Given the description of an element on the screen output the (x, y) to click on. 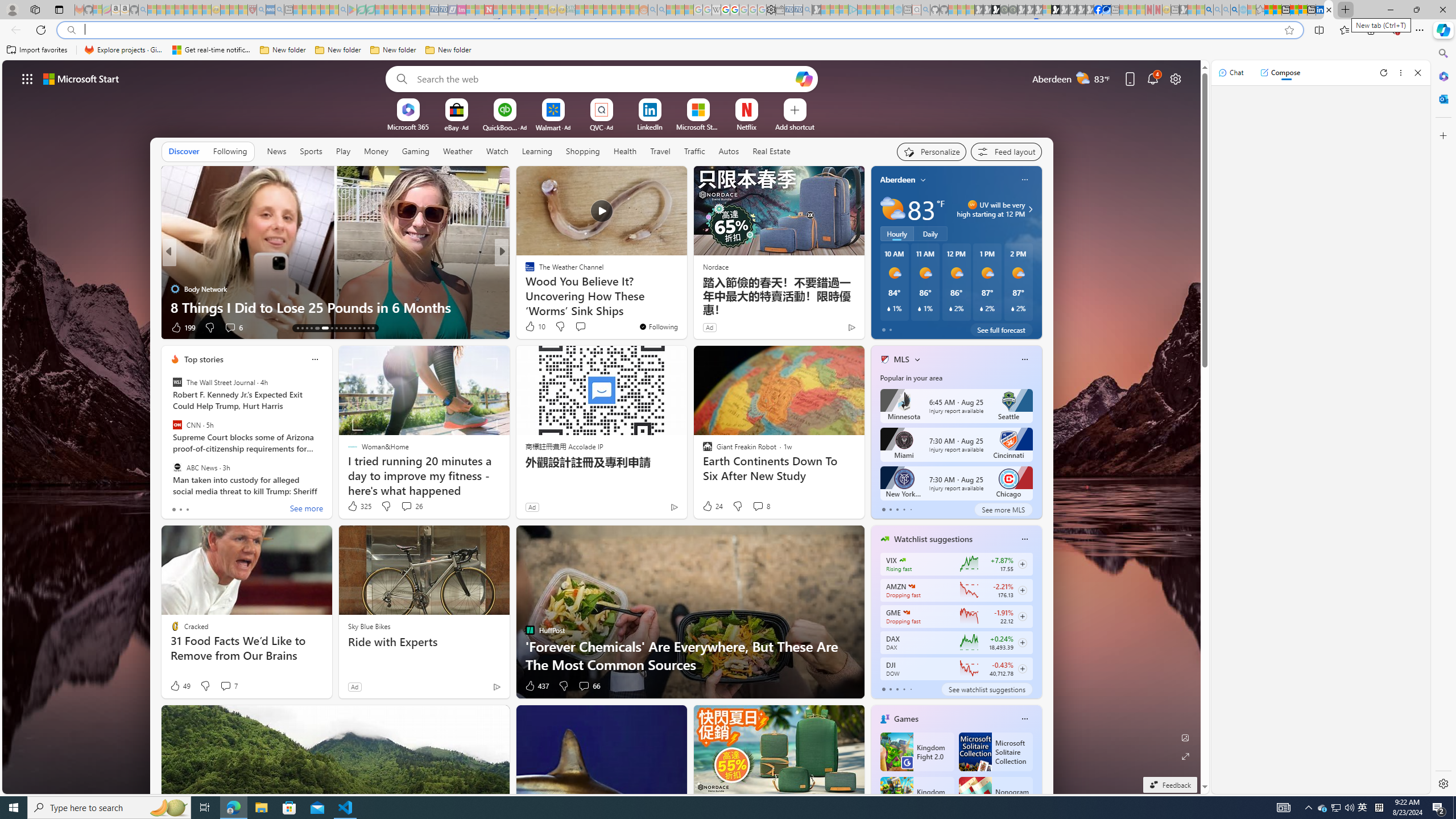
Expert Portfolios - Sleeping (606, 9)
New folder (448, 49)
Autos (728, 151)
Shopping (583, 151)
AutomationID: backgroundImagePicture (601, 426)
